Given the description of an element on the screen output the (x, y) to click on. 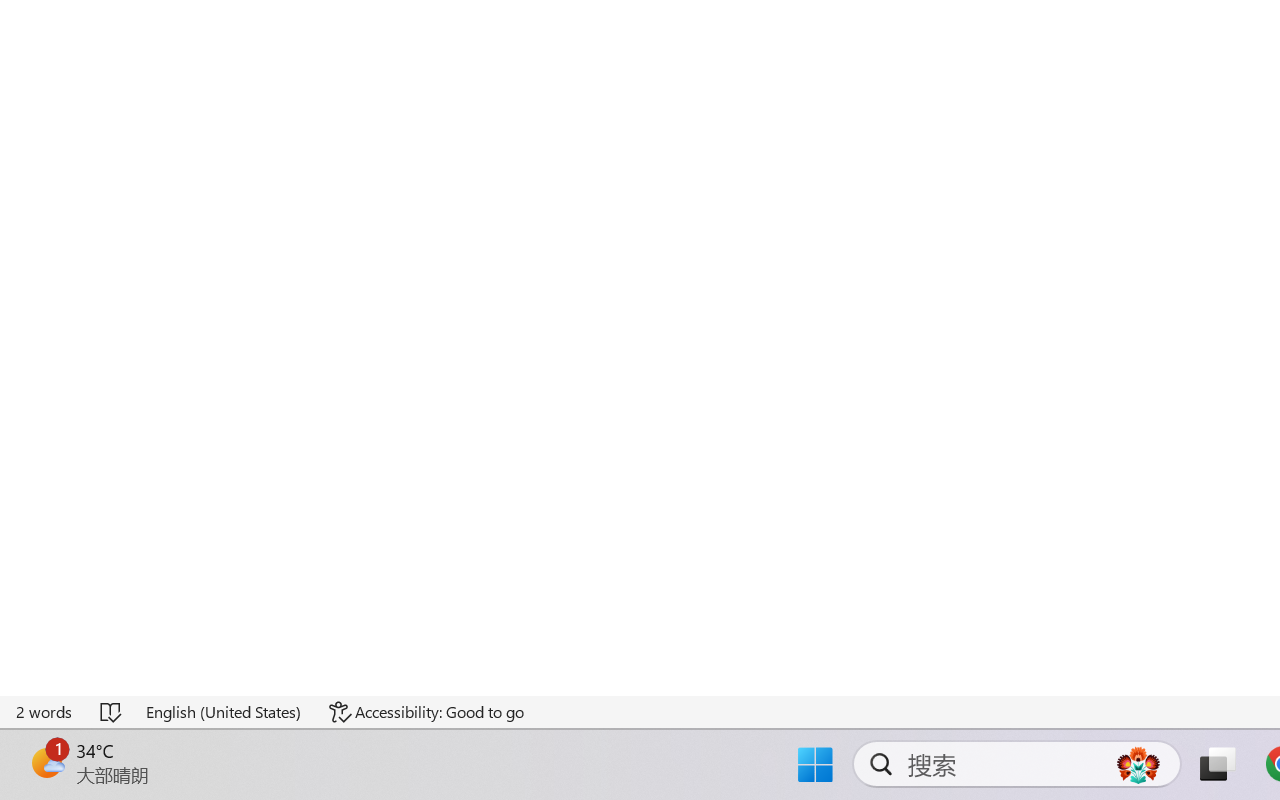
AutomationID: BadgeAnchorLargeTicker (46, 762)
Spelling and Grammar Check No Errors (112, 712)
Language English (United States) (224, 712)
Word Count 2 words (45, 712)
Accessibility Checker Accessibility: Good to go (426, 712)
AutomationID: DynamicSearchBoxGleamImage (1138, 764)
